Given the description of an element on the screen output the (x, y) to click on. 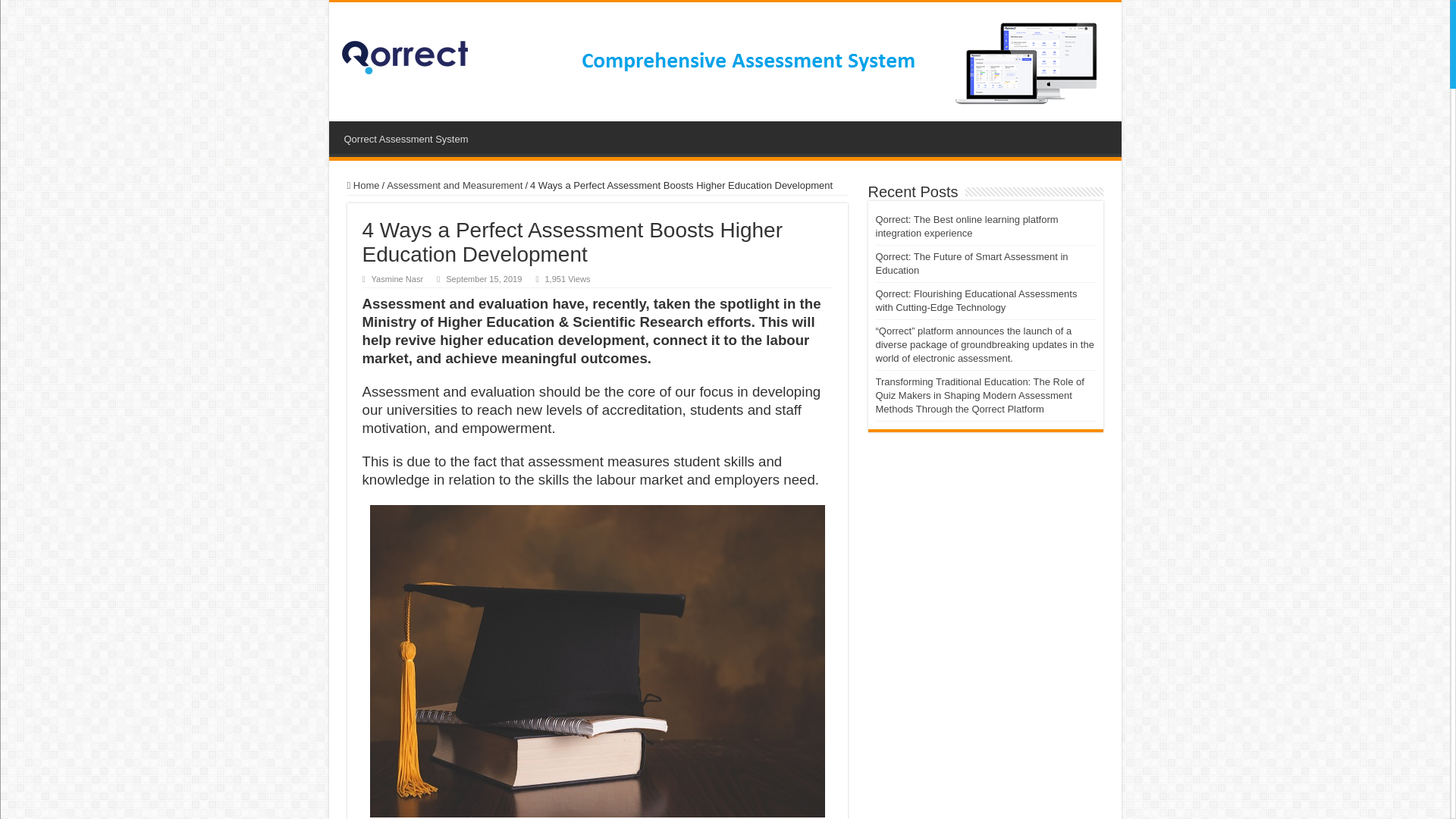
Home (363, 184)
Yasmine Nasr (397, 278)
Assessment and Measurement (454, 184)
Qorrect Assessment System (406, 137)
Qorrect (403, 54)
